Given the description of an element on the screen output the (x, y) to click on. 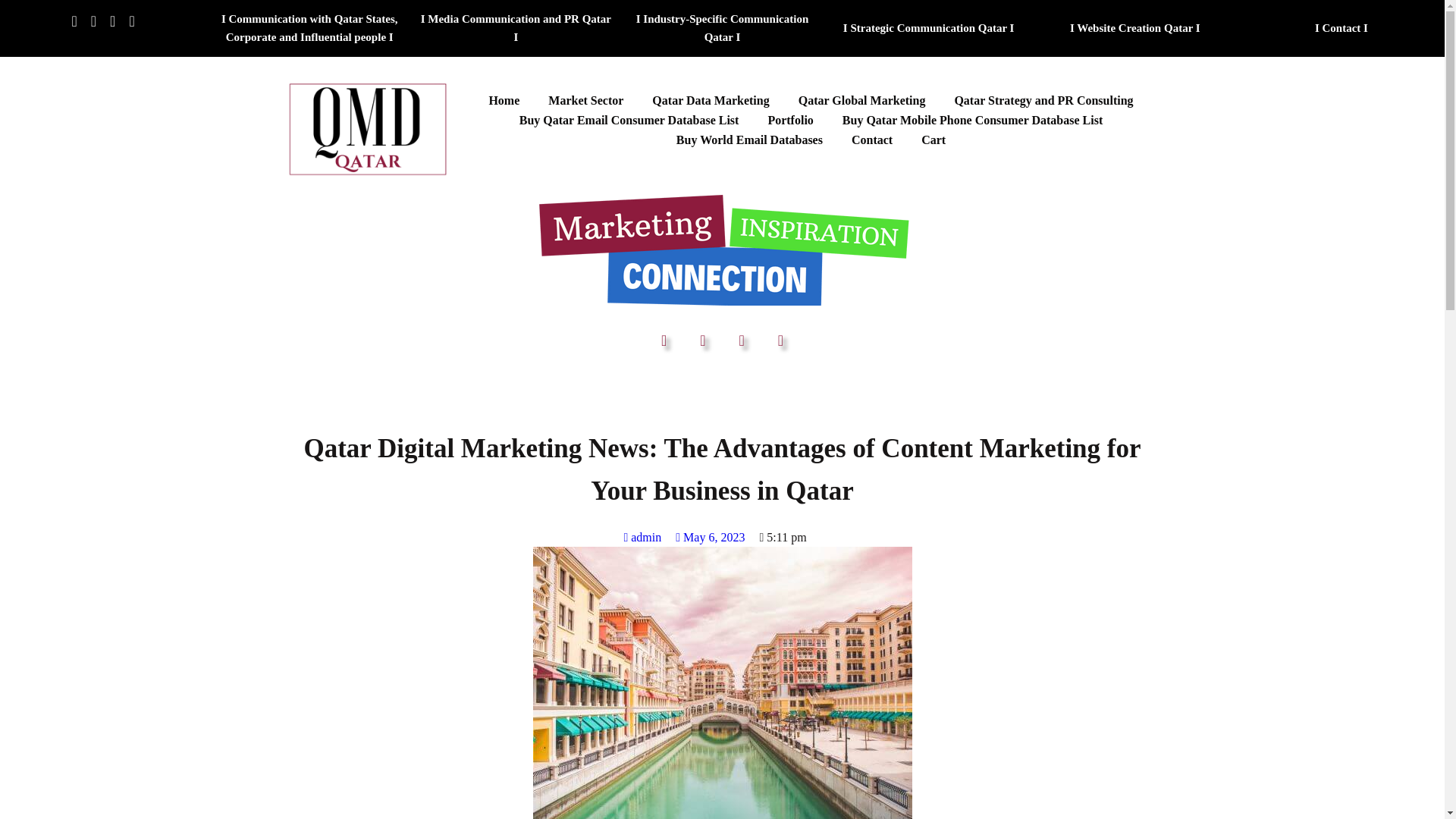
I Website Creation Qatar I (1134, 27)
I Media Communication and PR Qatar I (515, 27)
Market Sector (585, 100)
Home (504, 100)
Qatar Digital Marketing Agency (367, 127)
I Industry-Specific Communication Qatar I (721, 27)
I Contact I (1341, 27)
I Strategic Communication Qatar I (928, 27)
